Given the description of an element on the screen output the (x, y) to click on. 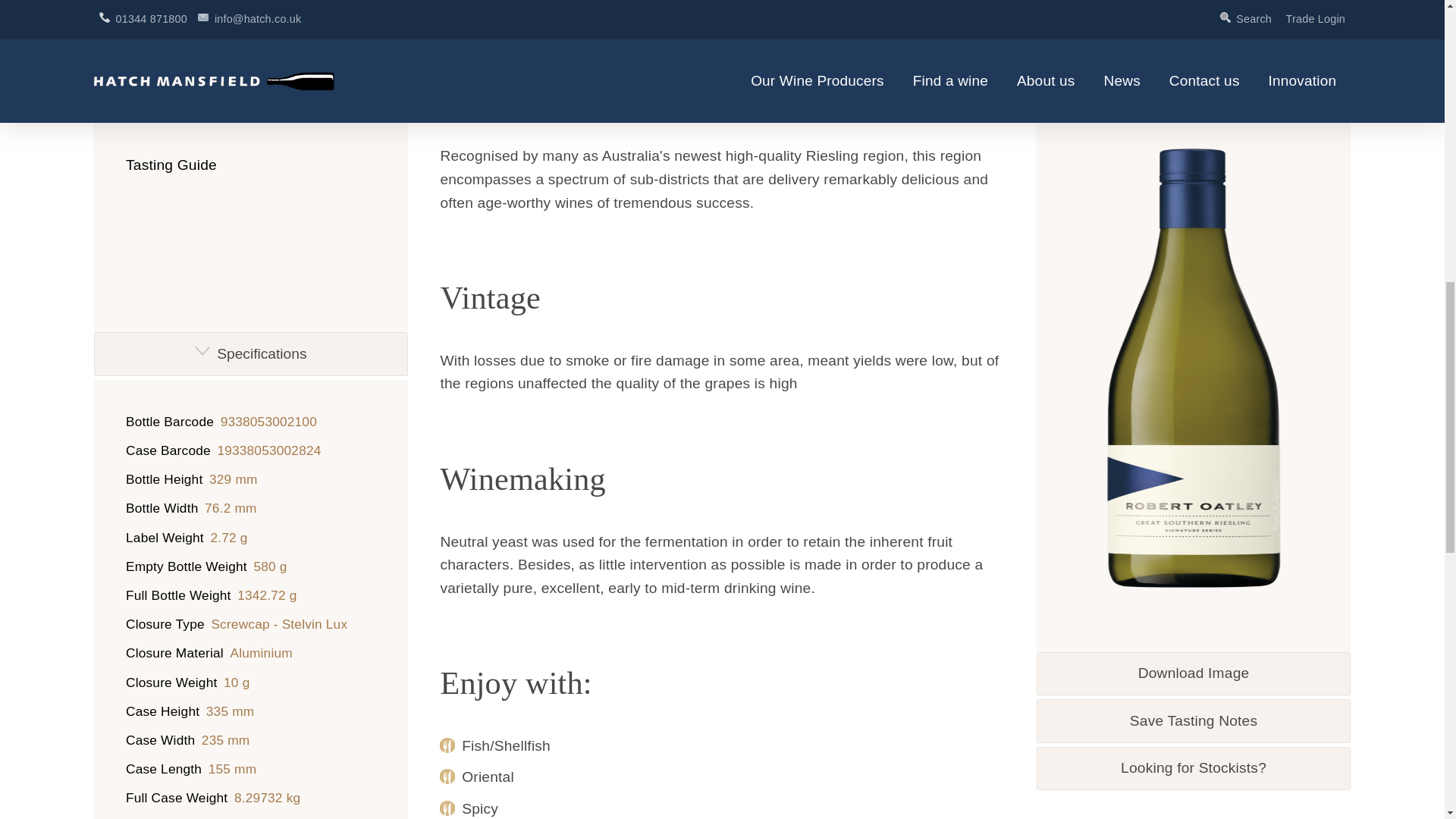
Download Image (1193, 145)
Save Tasting Notes (1193, 192)
Looking for Stockists? (1193, 240)
Specifications (250, 353)
